Given the description of an element on the screen output the (x, y) to click on. 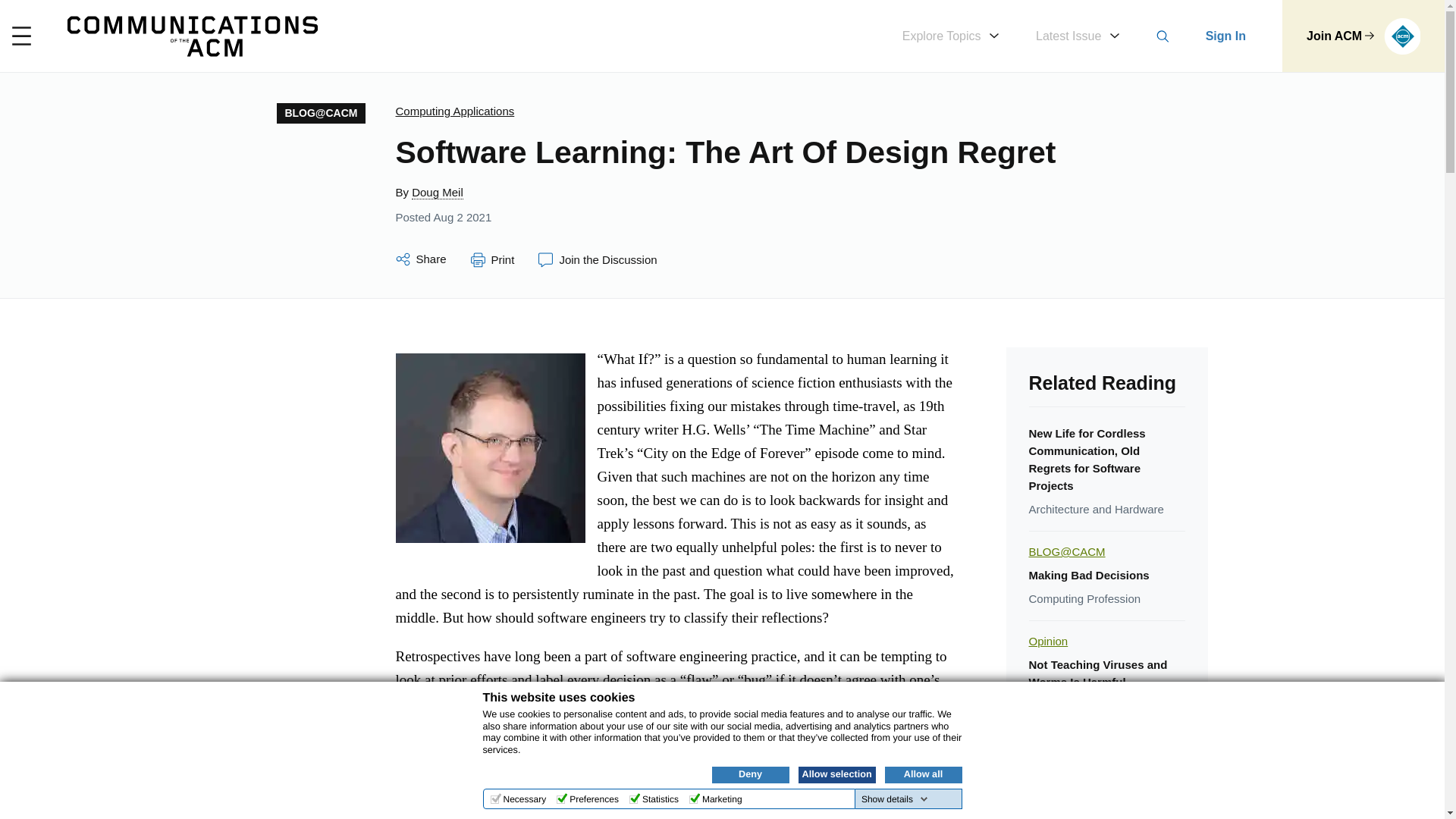
Allow all (921, 774)
Allow selection (836, 774)
Show details (895, 799)
Deny (750, 774)
